Given the description of an element on the screen output the (x, y) to click on. 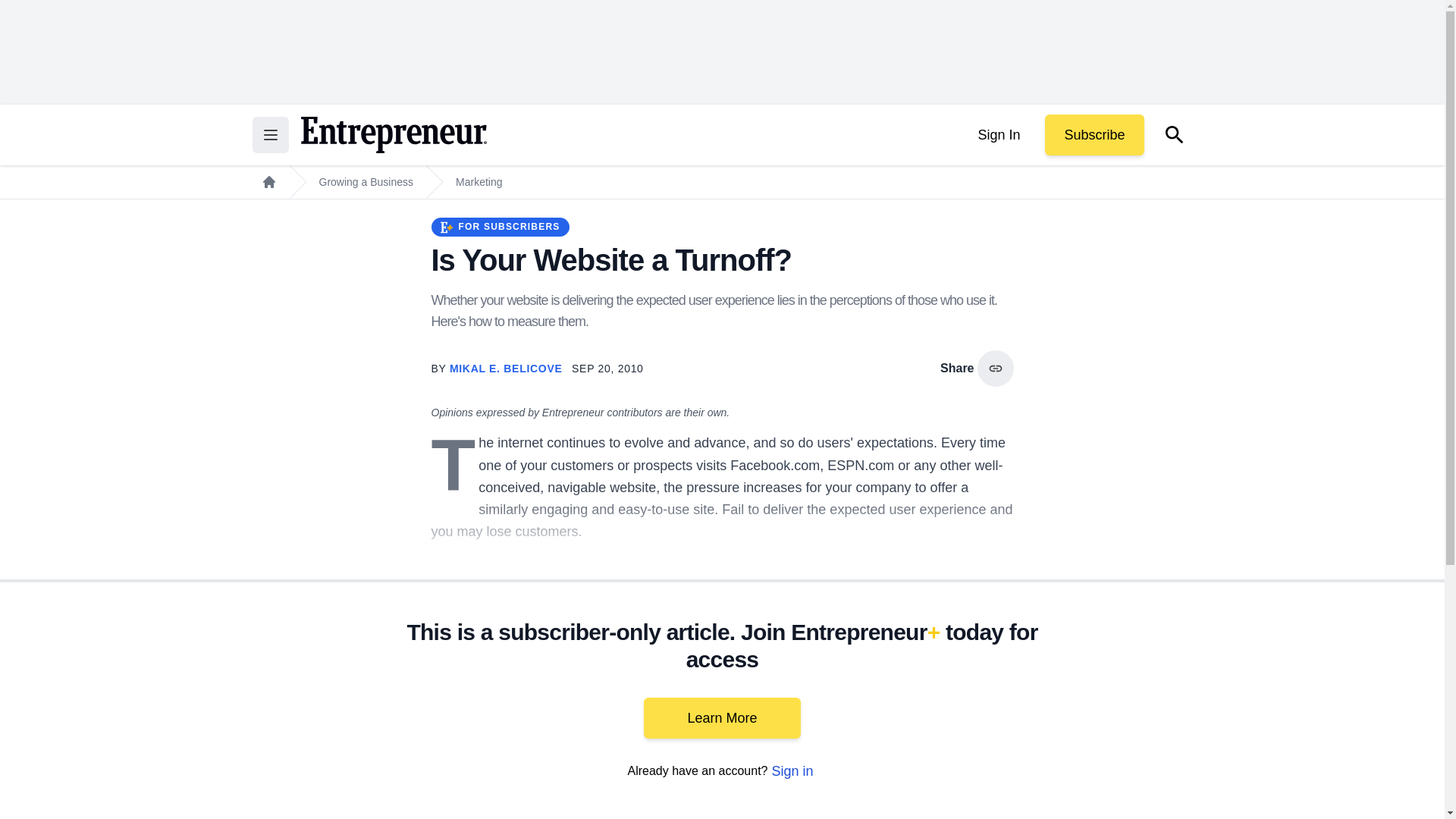
Return to the home page (392, 135)
copy (994, 368)
Subscribe (1093, 134)
Sign In (998, 134)
